Given the description of an element on the screen output the (x, y) to click on. 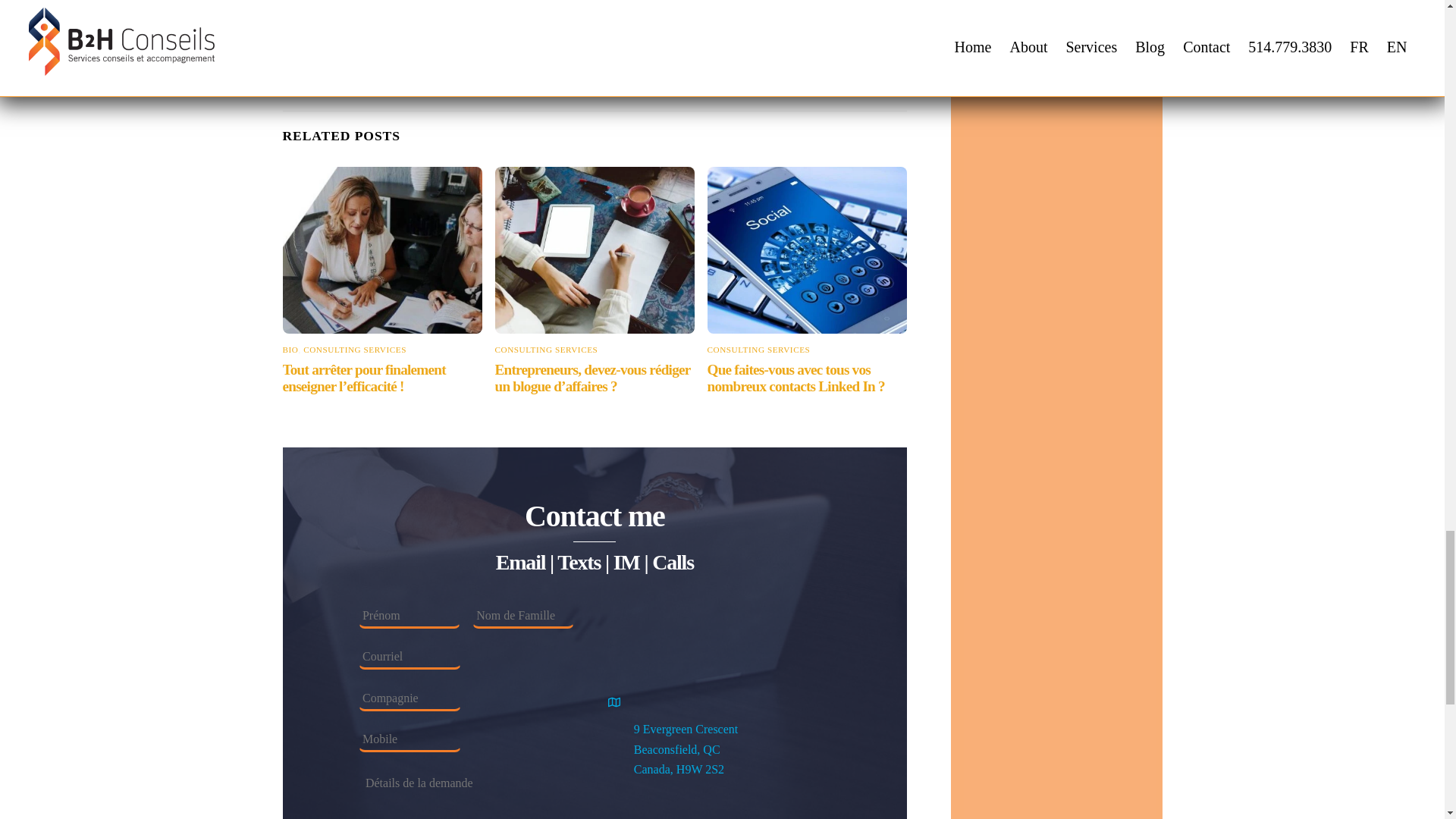
Que faites-vous avec tous vos nombreux contacts Linked In ? (796, 377)
CONSULTING SERVICES (546, 348)
Woman Writing And Working At Home (595, 250)
BIO (290, 348)
CONSULTING SERVICES (758, 348)
1.514.779.3830 (659, 816)
CONSULTING SERVICES (354, 348)
